Given the description of an element on the screen output the (x, y) to click on. 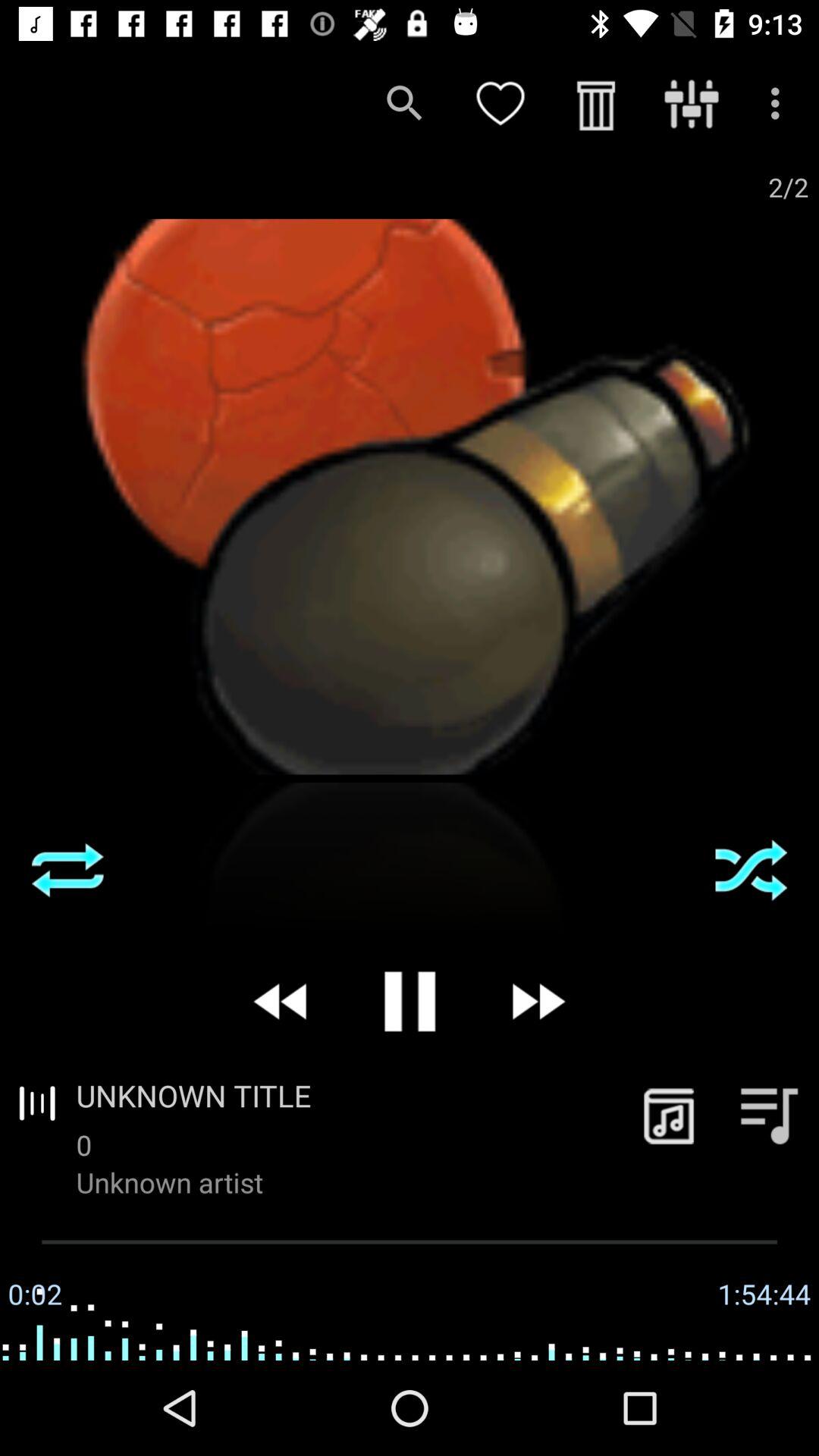
go back (281, 1001)
